Given the description of an element on the screen output the (x, y) to click on. 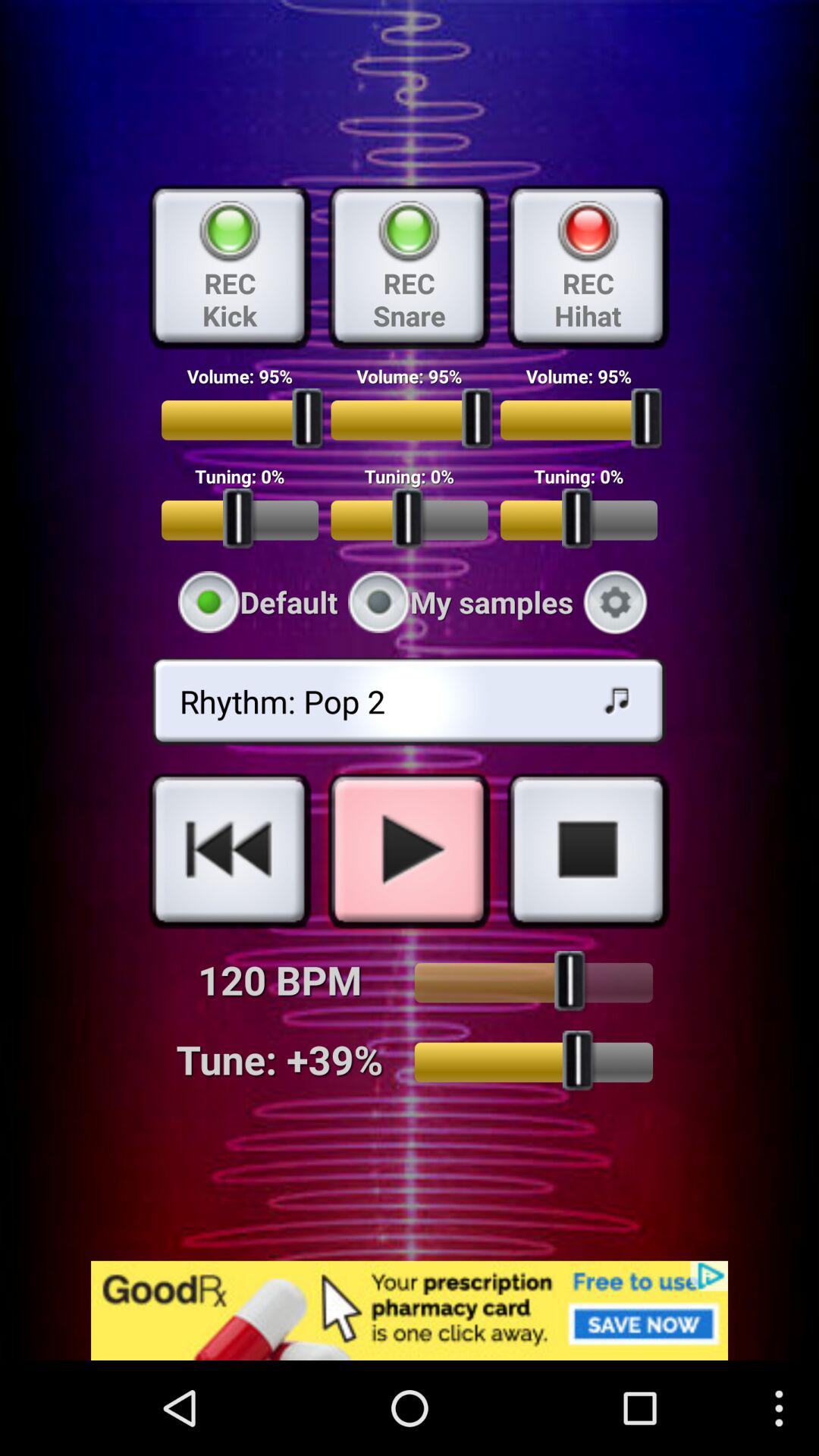
click on icon which is right to my samples (615, 601)
